Given the description of an element on the screen output the (x, y) to click on. 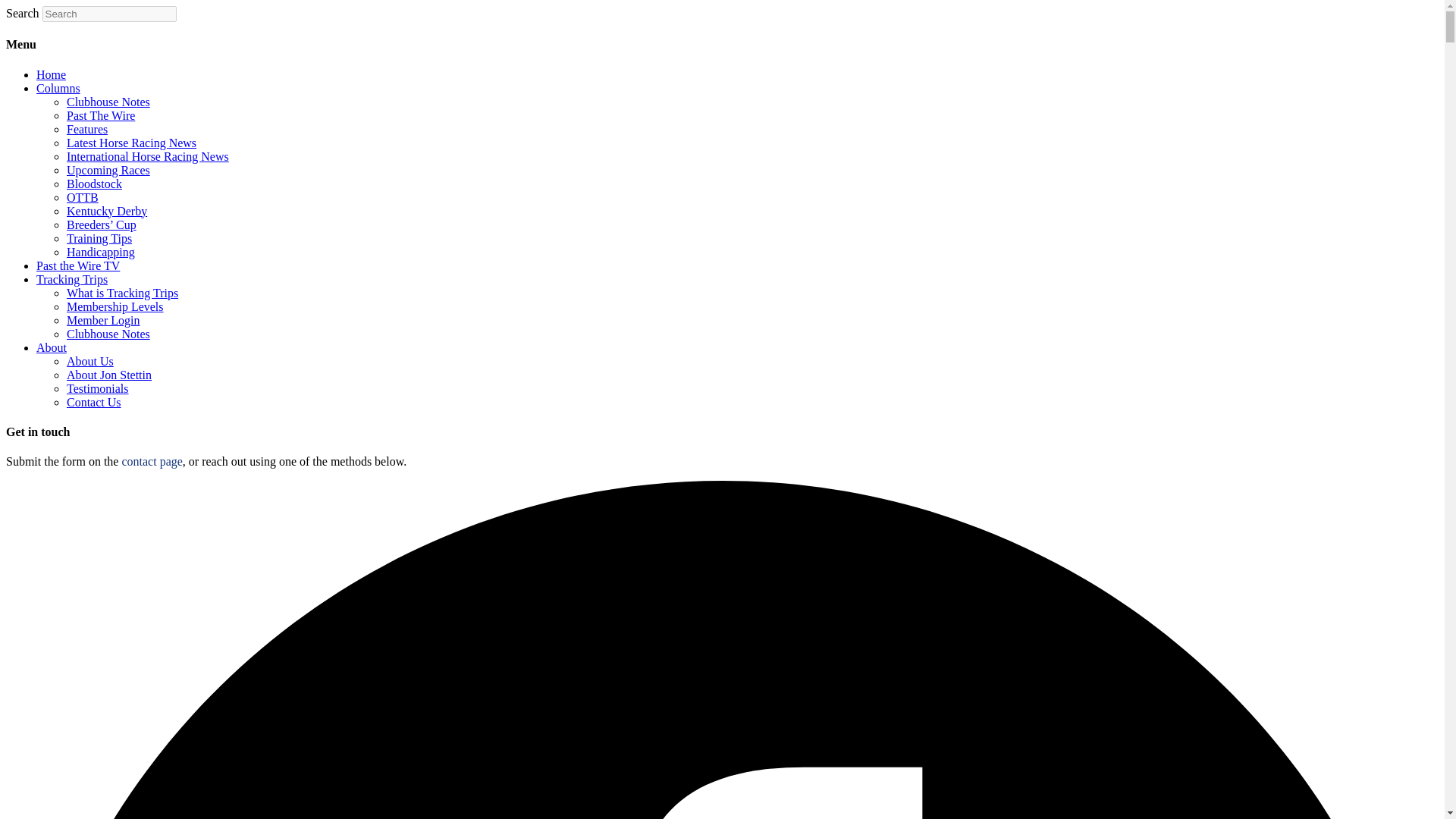
Handicapping (100, 251)
Tracking Trips (71, 278)
About Jon Stettin (108, 374)
OTTB (82, 196)
Kentucky Derby (106, 210)
What is Tracking Trips (121, 292)
Membership Levels (114, 306)
About Us (89, 360)
About (51, 347)
Clubhouse Notes (107, 101)
Features (86, 128)
International Horse Racing News (147, 155)
Past The Wire (100, 115)
contact page (151, 461)
Home (50, 74)
